Given the description of an element on the screen output the (x, y) to click on. 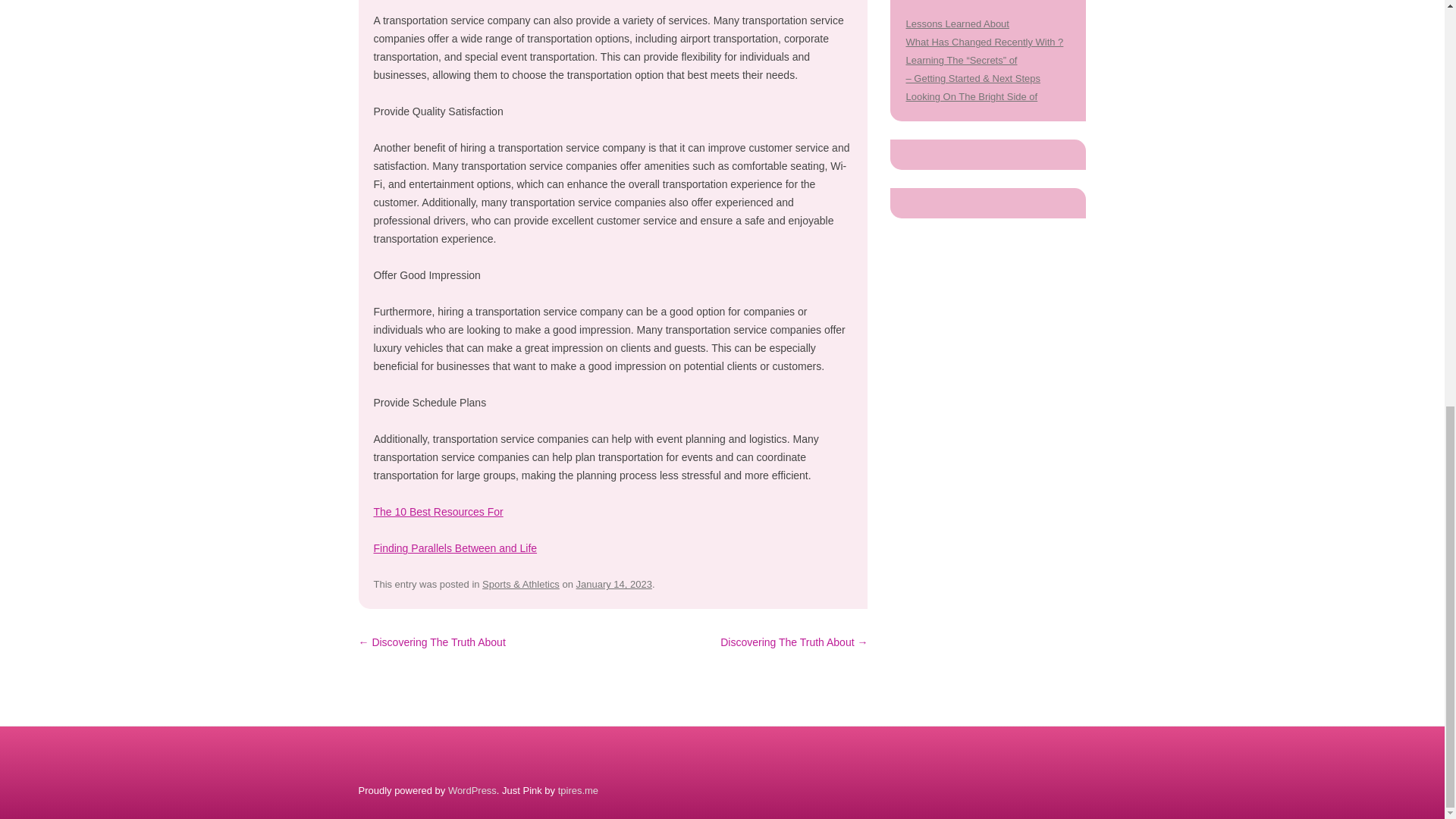
8:00 pm (614, 583)
Finding Parallels Between and Life (454, 548)
Semantic Personal Publishing Platform (472, 790)
Lessons Learned About (957, 23)
The 10 Best Resources For (437, 511)
January 14, 2023 (614, 583)
What Has Changed Recently With ? (983, 41)
